Given the description of an element on the screen output the (x, y) to click on. 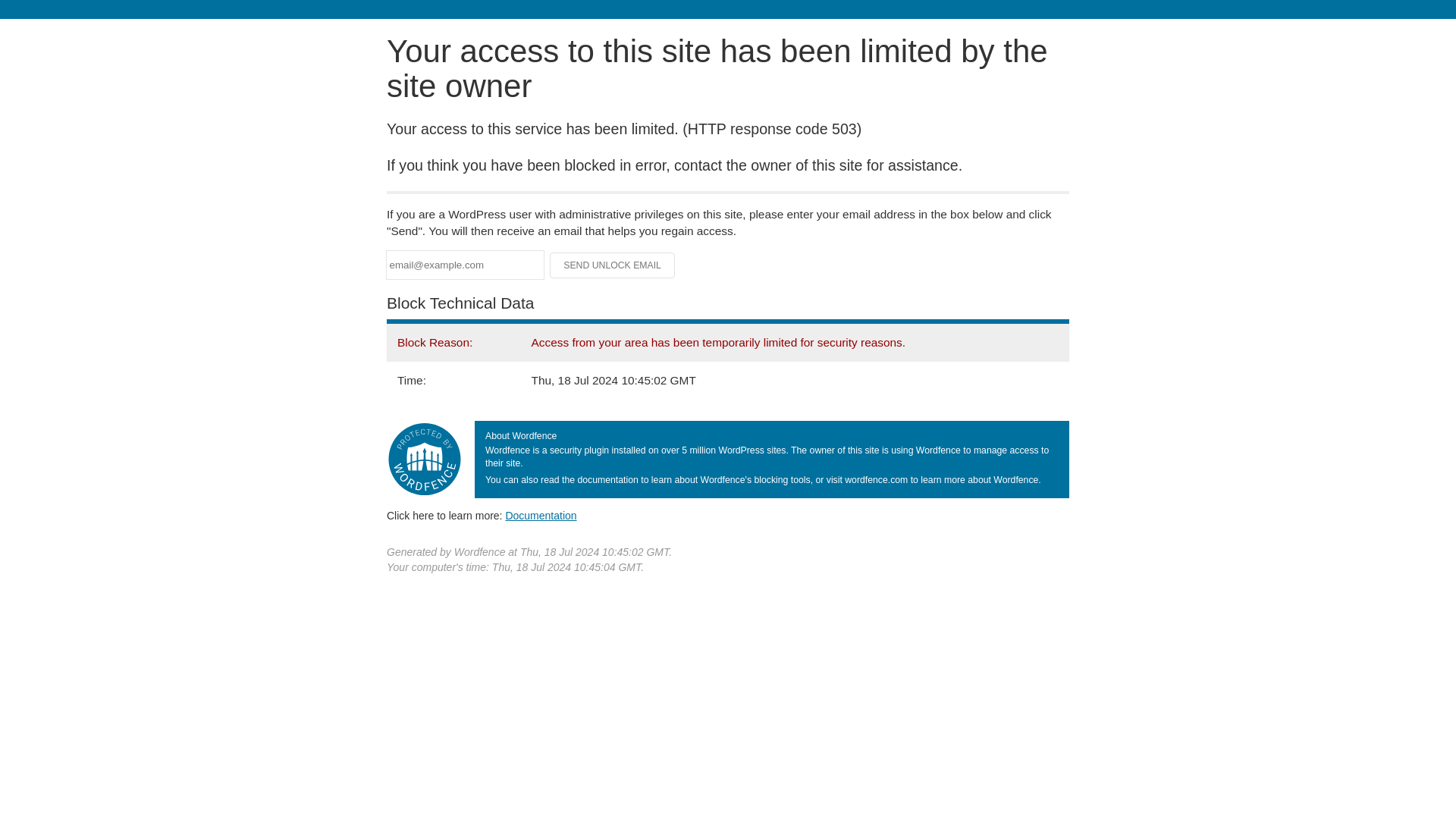
Send Unlock Email (612, 265)
Documentation (540, 515)
Send Unlock Email (612, 265)
